Given the description of an element on the screen output the (x, y) to click on. 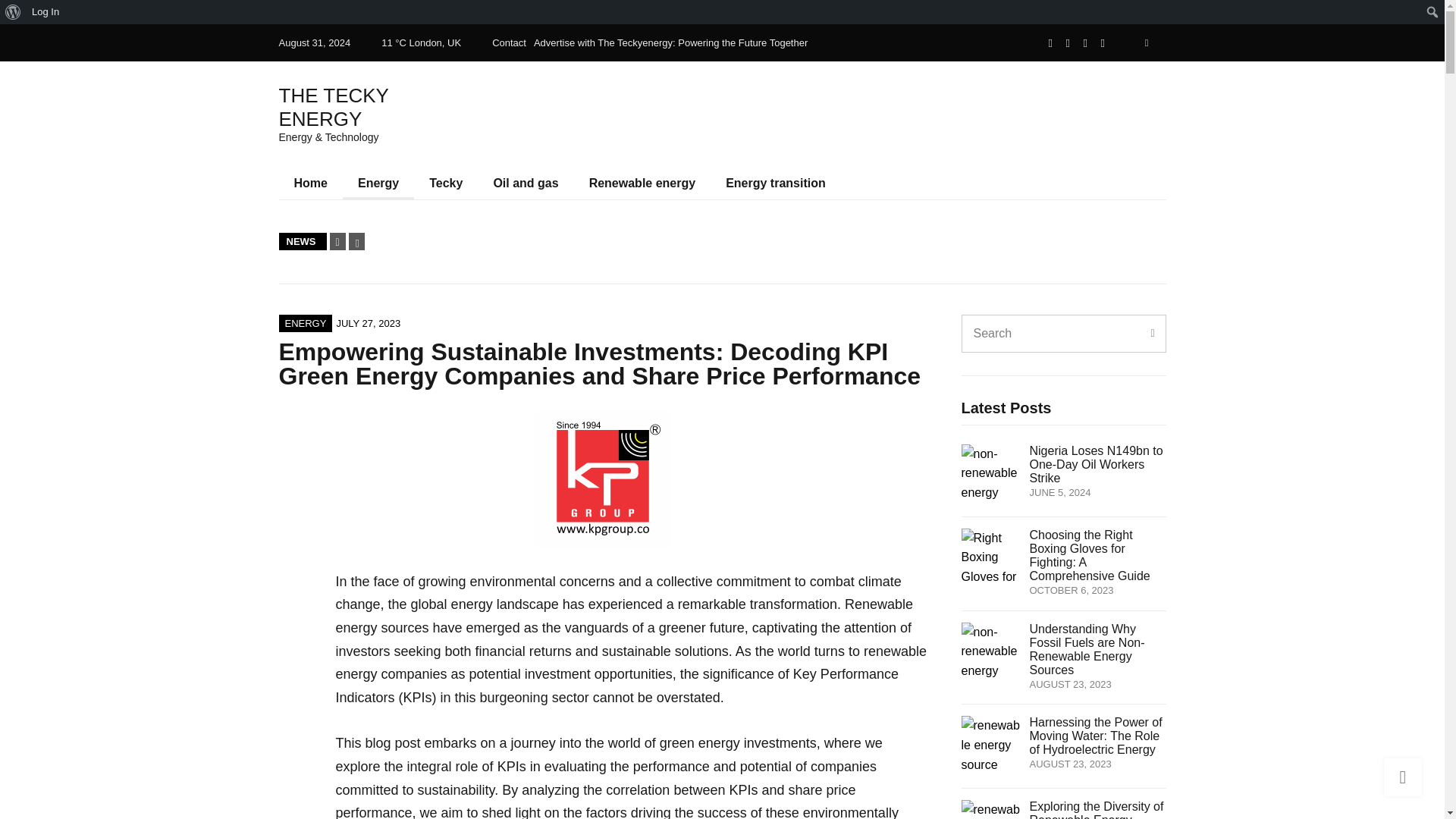
Advertise with The Teckyenergy: Powering the Future Together (671, 42)
Search (16, 13)
Energy (377, 183)
Log In (45, 12)
Contact (508, 42)
Instagram (1085, 42)
Energy transition (775, 183)
ENERGY (305, 323)
THE TECKY ENERGY (333, 107)
YouTube (1102, 42)
